Given the description of an element on the screen output the (x, y) to click on. 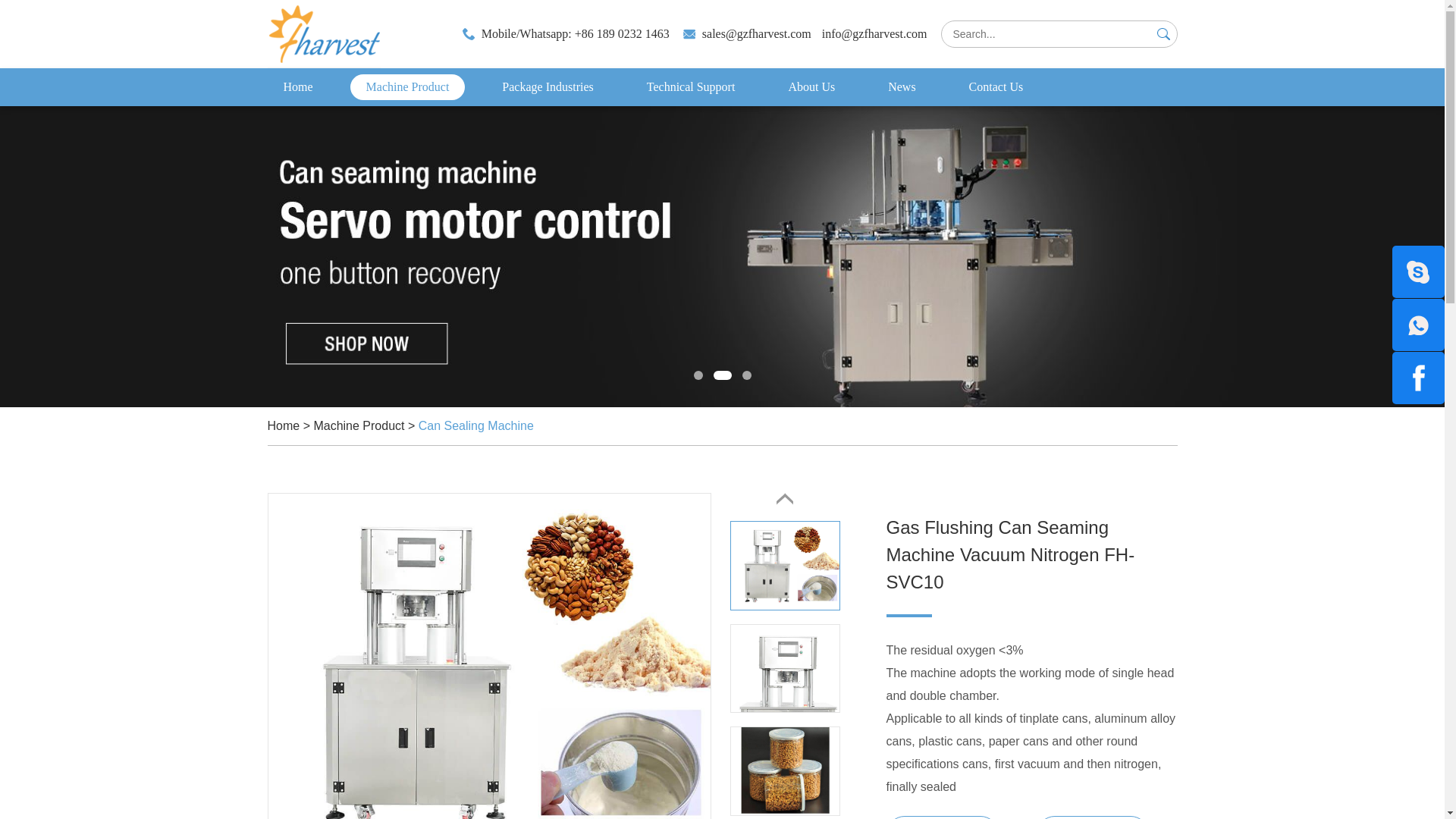
Home (297, 86)
Package Industries (547, 86)
Technical Support (690, 86)
Technical Support (690, 86)
Contact Us (996, 86)
Guangzhou Full Harvest Industries Co., Ltd. (323, 33)
News (901, 86)
About Us (810, 86)
Package Industries (547, 86)
About Us (810, 86)
Machine Product (407, 86)
News (901, 86)
Home (297, 86)
Contact Us (996, 86)
Machine Product (407, 86)
